Given the description of an element on the screen output the (x, y) to click on. 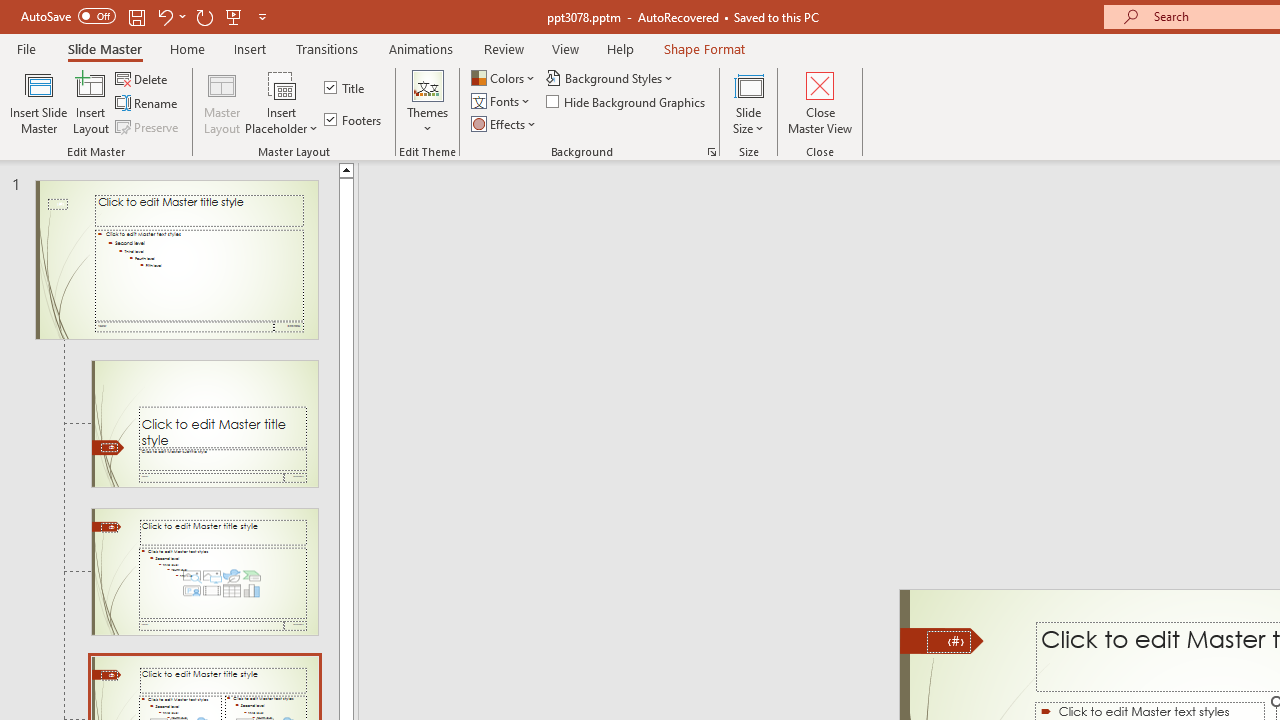
Effects (505, 124)
Hide Background Graphics (626, 101)
Slide Title Slide Layout: used by slide(s) 1 (204, 423)
Slide Title and Content Layout: used by no slides (204, 572)
Slide Wisp Slide Master: used by slide(s) 1 (176, 259)
Content (282, 84)
Background Styles (610, 78)
Title (346, 87)
Insert Placeholder (282, 102)
Format Background... (711, 151)
